Given the description of an element on the screen output the (x, y) to click on. 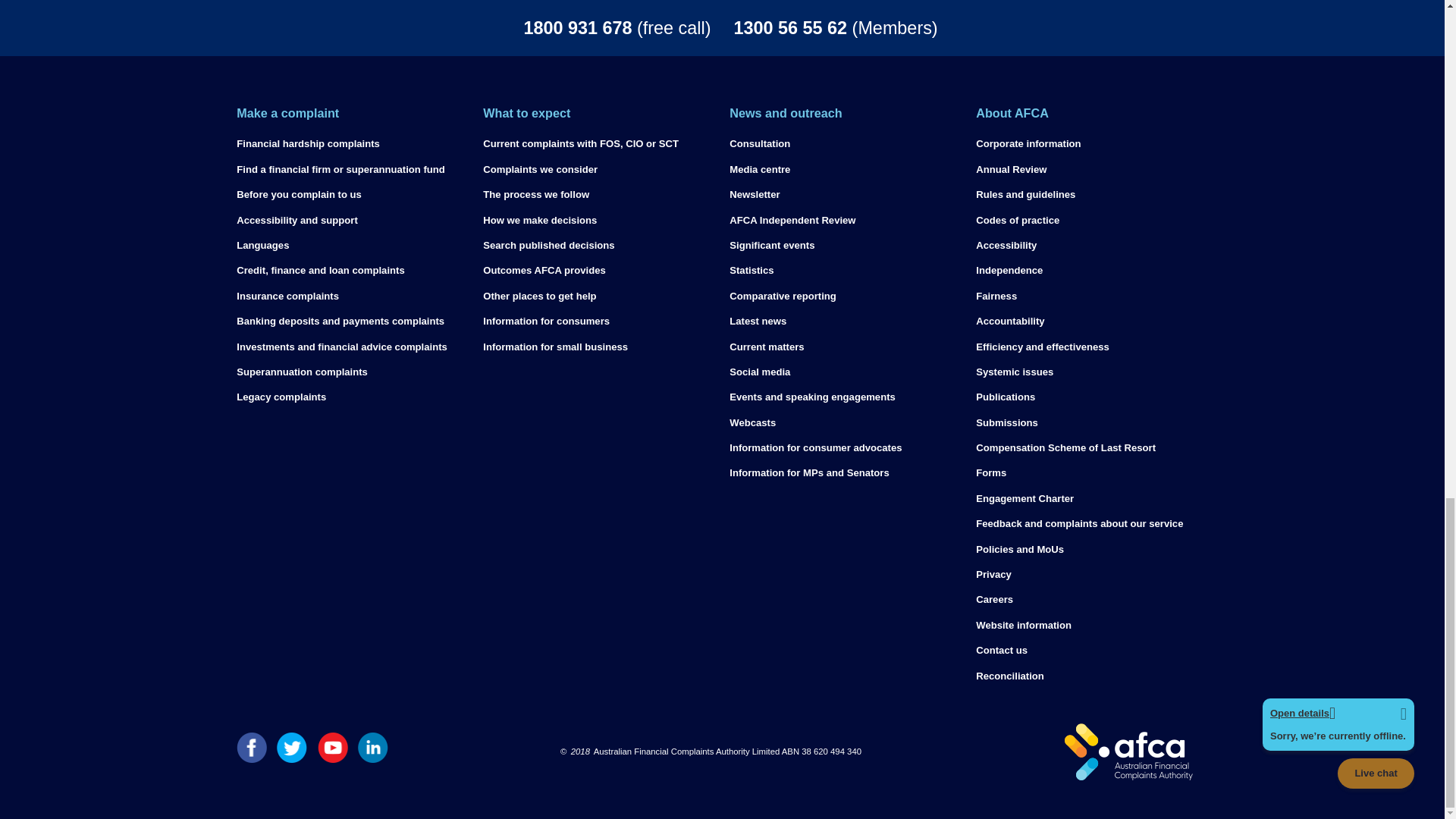
Click here to visit our LinkedIn Page (373, 758)
If you are already a member, click here to call us (932, 27)
If you are not a member, click here to call us (511, 27)
Click here to visit our YouTube Page (332, 758)
Click here to visit our Facebook Page (250, 758)
Click here to visit our Twitter Page (291, 758)
